Given the description of an element on the screen output the (x, y) to click on. 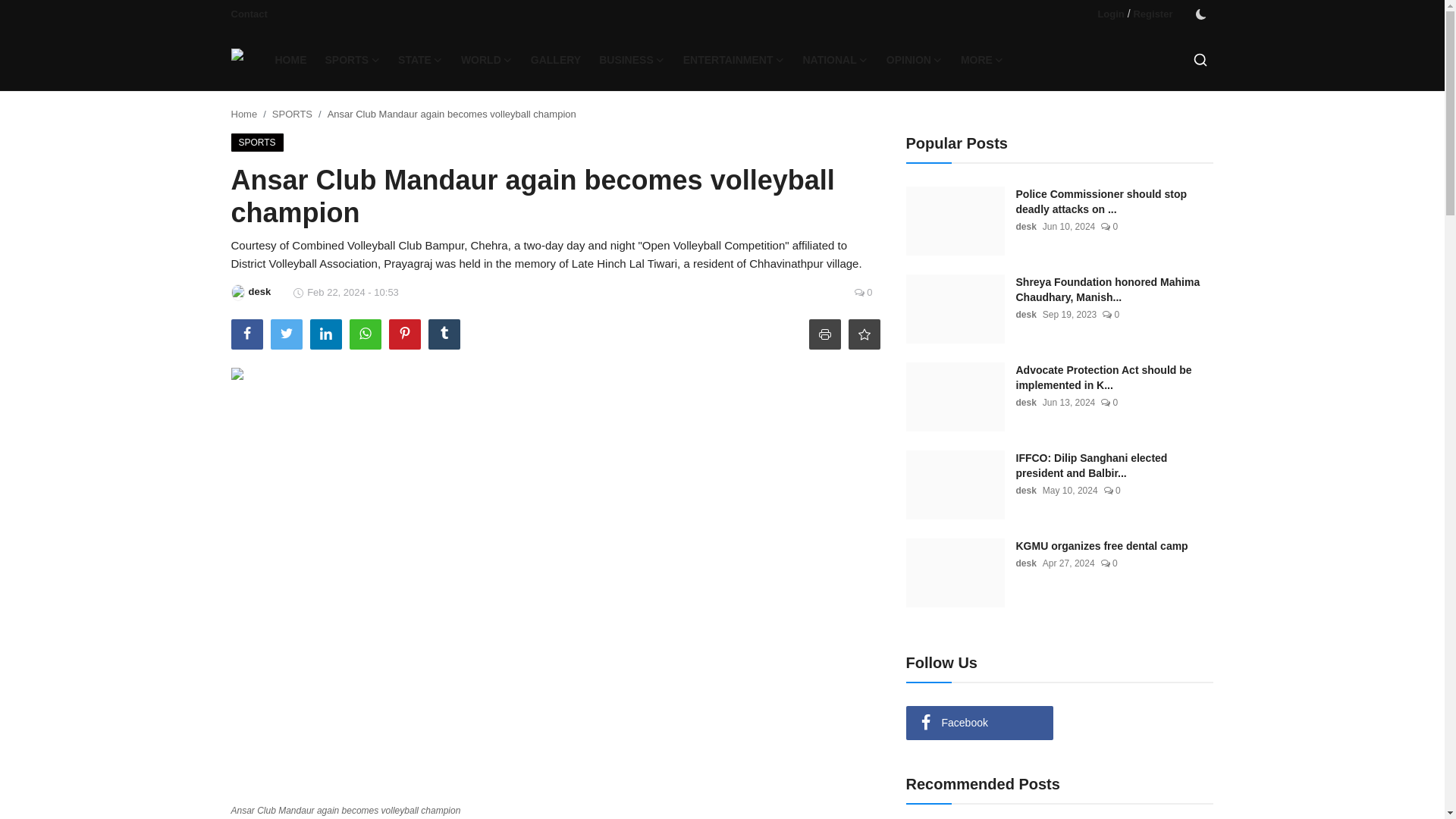
OPINION (914, 59)
MORE (982, 59)
GALLERY (555, 59)
BUSINESS (631, 59)
STATE (419, 59)
NATIONAL (834, 59)
Contact (248, 14)
Login (1110, 14)
WORLD (486, 59)
Add to Reading List (863, 334)
SPORTS (351, 59)
dark (1200, 14)
ENTERTAINMENT (733, 59)
Register (1152, 14)
